Given the description of an element on the screen output the (x, y) to click on. 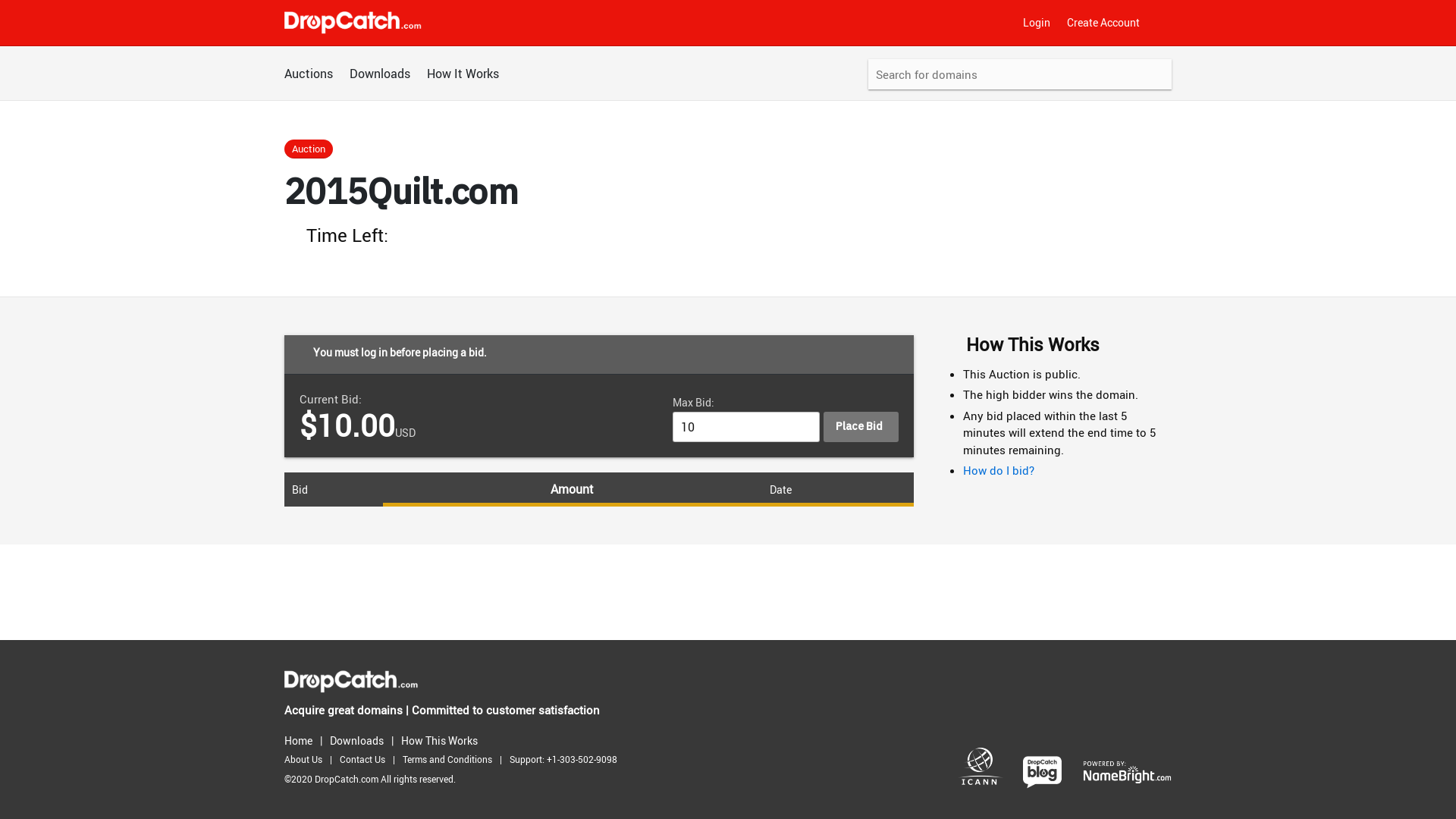
Downloads Element type: text (379, 73)
Terms and Conditions Element type: text (450, 758)
How This Works Element type: text (443, 740)
Support: +1-303-502-9098 Element type: text (566, 758)
Auctions Element type: text (308, 73)
search Element type: text (1153, 75)
Search for domains Element type: hover (1019, 74)
Downloads Element type: text (360, 740)
How It Works Element type: text (462, 73)
Contact Us Element type: text (365, 758)
Home Element type: text (302, 740)
language Element type: text (1163, 22)
Login Element type: text (1036, 22)
How do I bid? Element type: text (998, 469)
Place Bid Element type: text (860, 426)
About Us Element type: text (306, 758)
Create Account Element type: text (1103, 22)
